Given the description of an element on the screen output the (x, y) to click on. 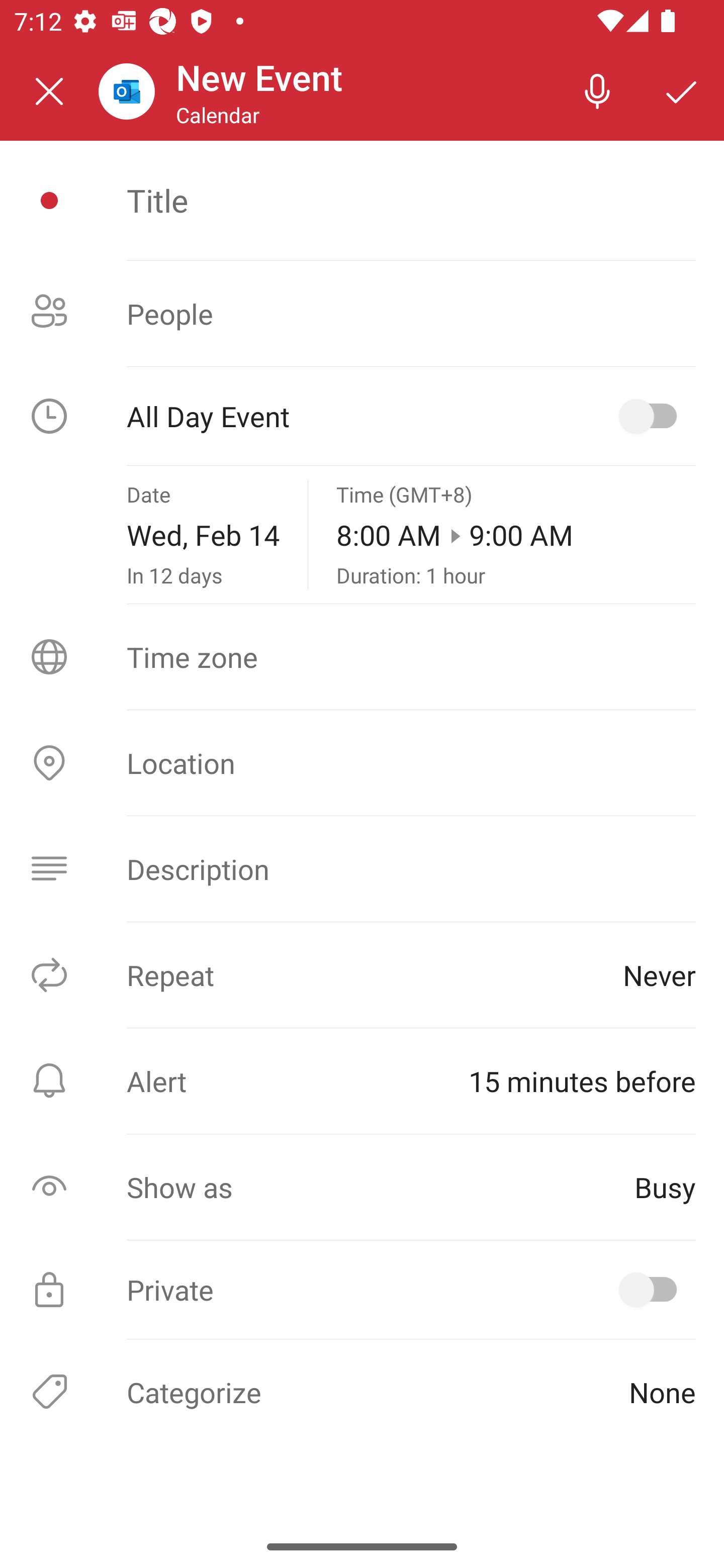
Close (49, 91)
Save button (681, 90)
Title (410, 200)
Event icon picker (48, 200)
People (362, 313)
All Day Event (362, 415)
Date Wed, Feb 14 In 12 days (202, 534)
Time (GMT+8) 8:00 AM ▸ 9:00 AM Duration: 1 hour (516, 534)
Time zone (362, 656)
Location (362, 762)
Description (362, 868)
Repeat Never (362, 974)
Alert ⁨15 minutes before (362, 1080)
Show as Busy (362, 1186)
Private (362, 1289)
Categorize None (362, 1391)
